Given the description of an element on the screen output the (x, y) to click on. 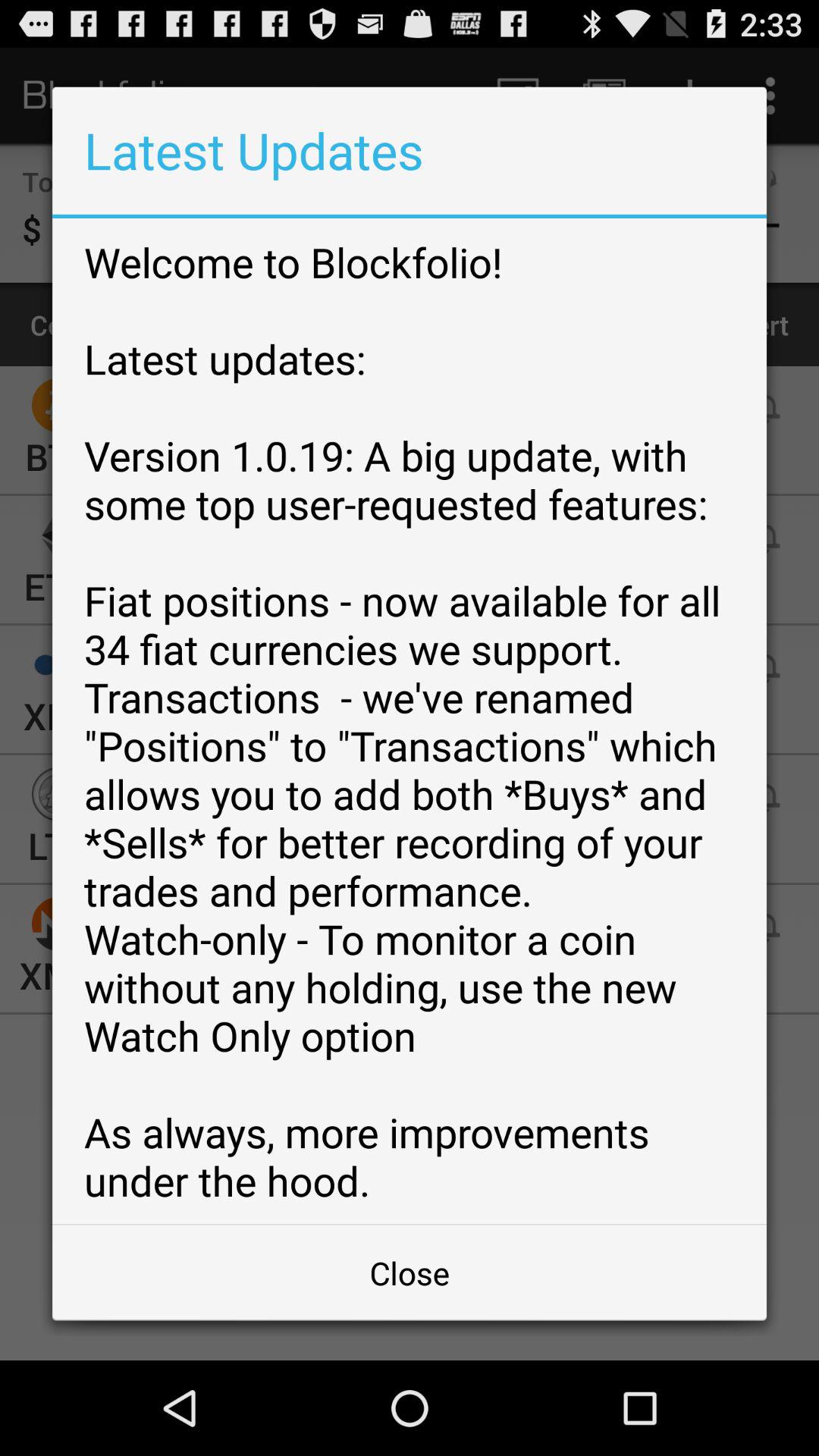
press app below the welcome to blockfolio app (409, 1272)
